Given the description of an element on the screen output the (x, y) to click on. 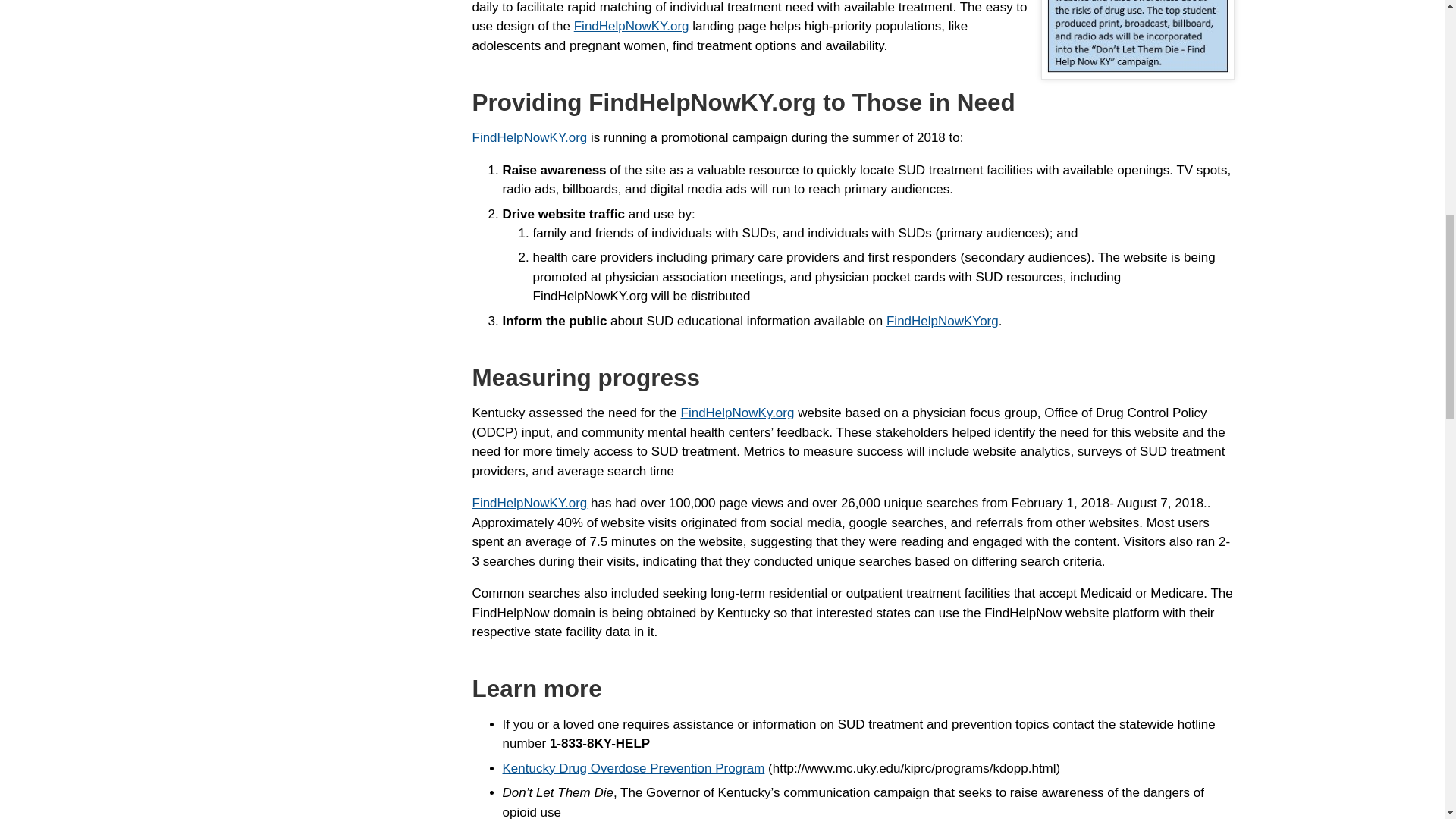
FindHelpNowKYorg (942, 320)
FindHelpNowKy.org (737, 412)
FindHelpNowKY.org (528, 137)
Kentucky Drug Overdose Prevention Program (633, 768)
FindHelpNowKY.org (528, 503)
FindHelpNowKY.org (630, 25)
